Given the description of an element on the screen output the (x, y) to click on. 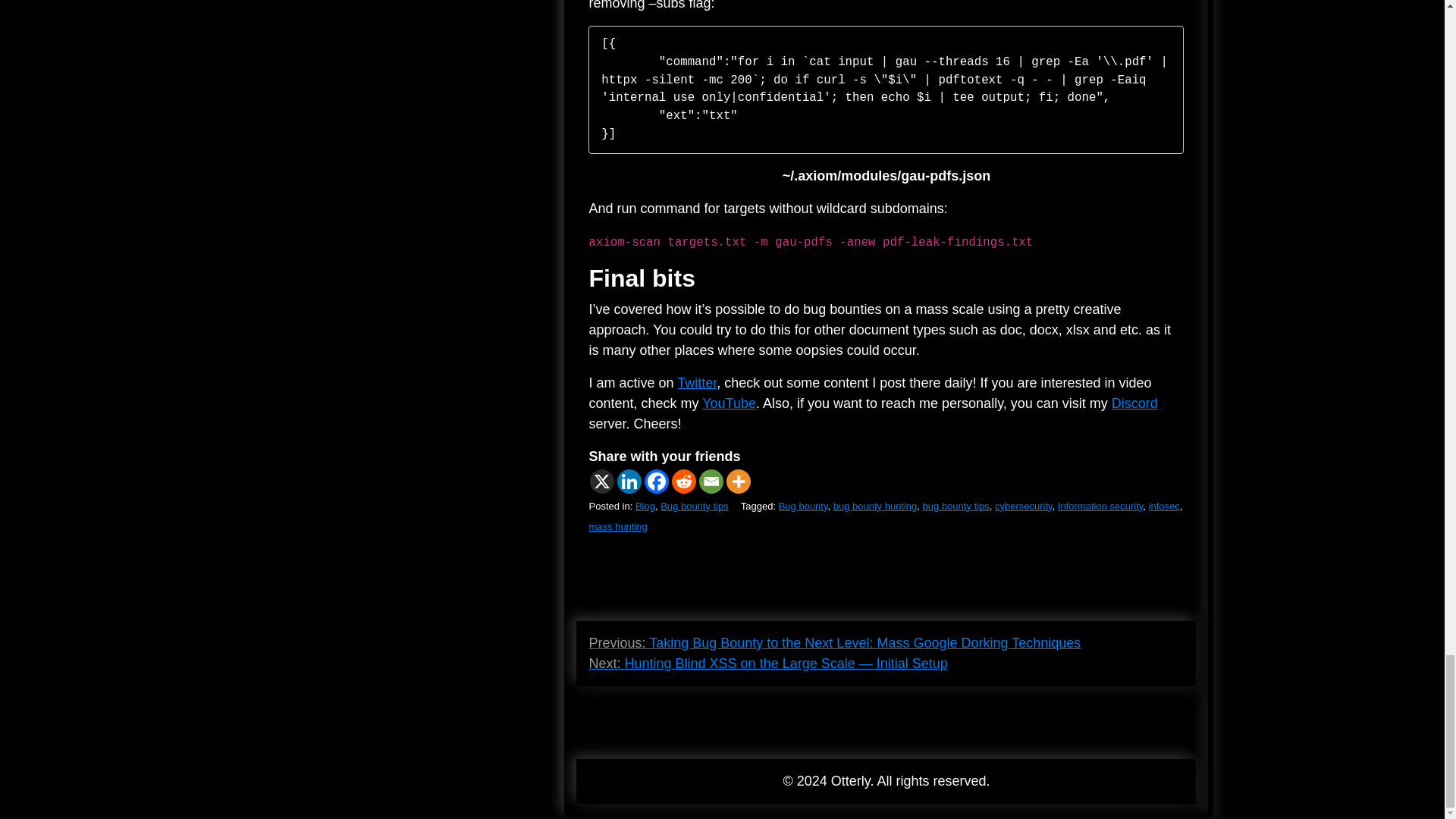
Linkedin (629, 481)
YouTube (728, 403)
More (738, 481)
Discord (1134, 403)
Reddit (683, 481)
Facebook (656, 481)
Twitter (696, 382)
Blog (644, 505)
X (601, 481)
Email (710, 481)
